Given the description of an element on the screen output the (x, y) to click on. 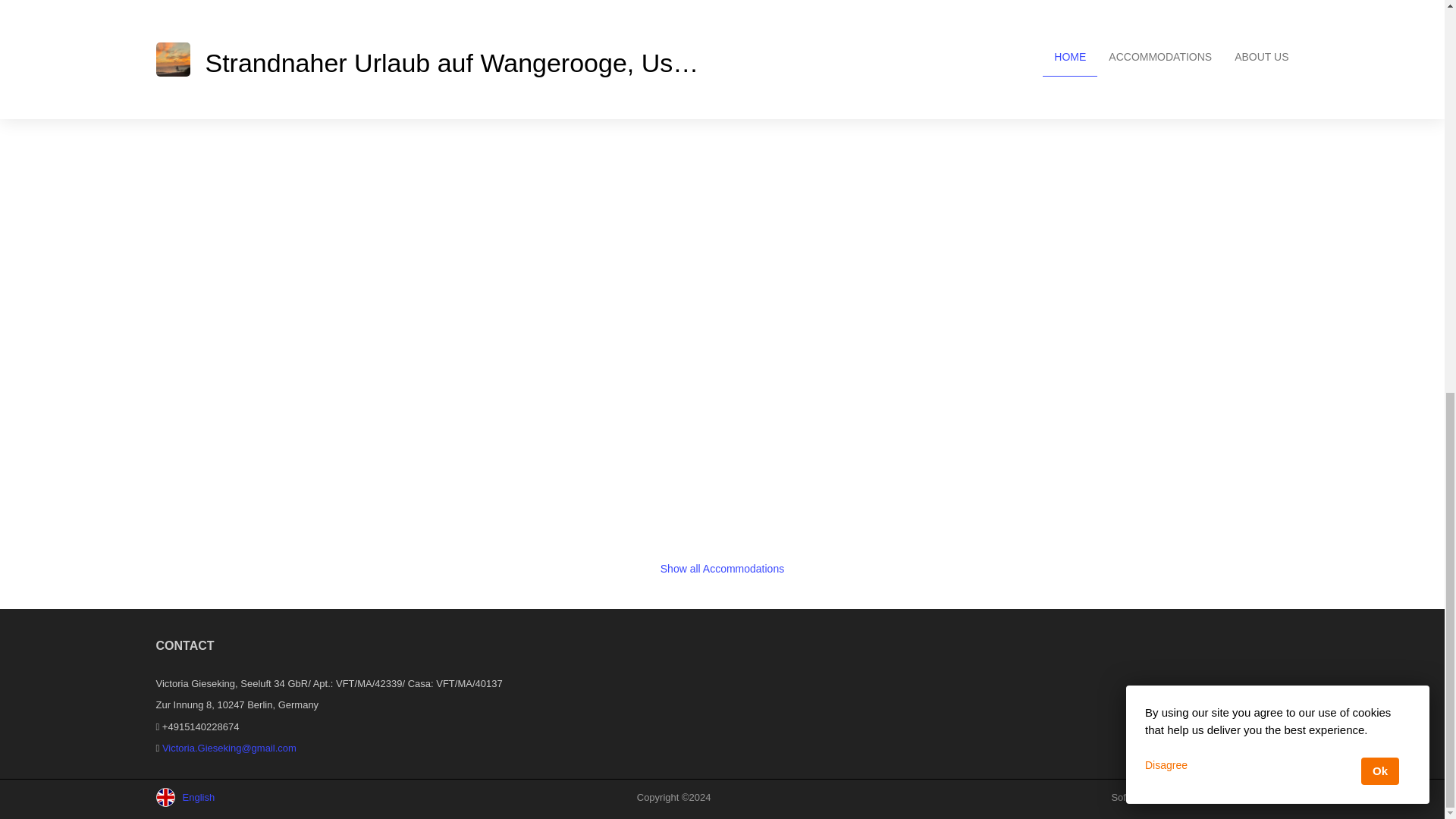
I Accept (1380, 17)
Smoobu (1270, 797)
Close (1277, 12)
Disagree (1166, 11)
Show all Accommodations (722, 568)
English (216, 797)
